Given the description of an element on the screen output the (x, y) to click on. 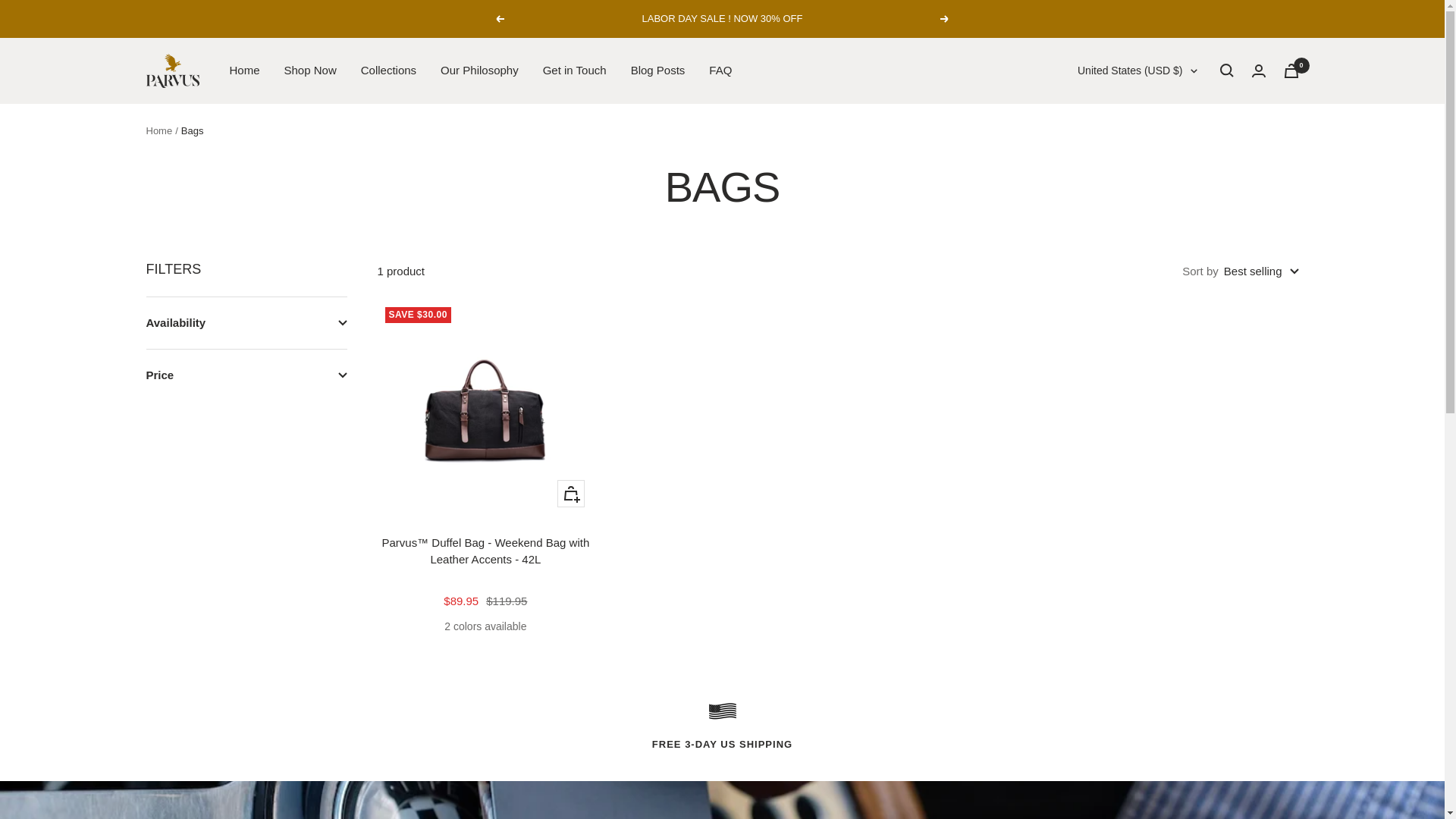
FREE 3-DAY US SHIPPING (721, 723)
Next (944, 18)
IT (1116, 247)
Get in Touch (575, 70)
Home (158, 130)
US (1116, 397)
0 (1290, 70)
Home (243, 70)
NL (1116, 297)
Shop Now (309, 70)
